Given the description of an element on the screen output the (x, y) to click on. 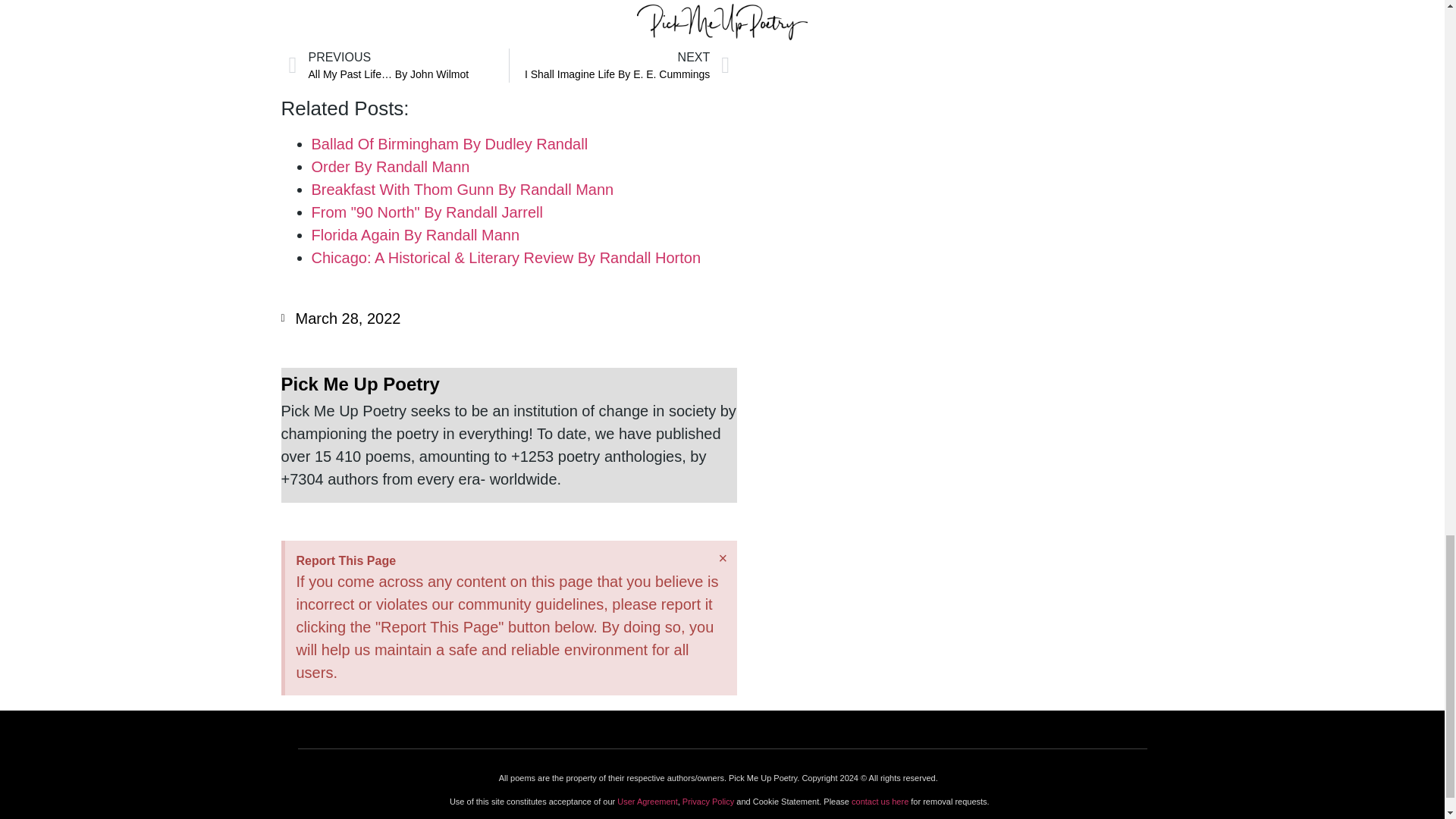
Order By Randall Mann (389, 166)
Breakfast With Thom Gunn By Randall Mann (619, 65)
Pick Me Up Poetry (461, 189)
From "90 North" By Randall Jarrell (508, 384)
Florida Again By Randall Mann (426, 211)
March 28, 2022 (415, 234)
Ballad Of Birmingham By Dudley Randall (340, 318)
